Given the description of an element on the screen output the (x, y) to click on. 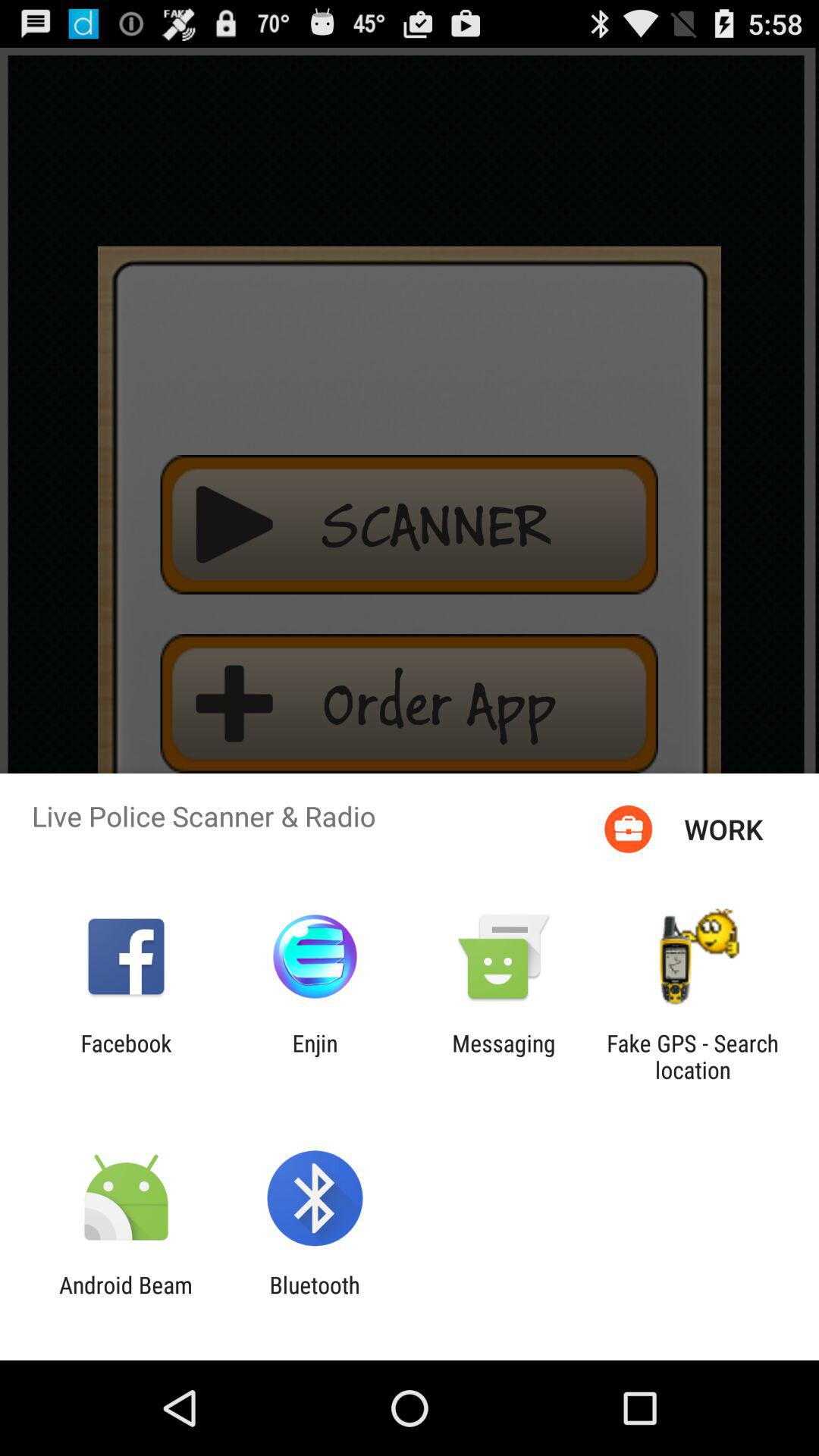
launch item next to the android beam icon (314, 1298)
